Given the description of an element on the screen output the (x, y) to click on. 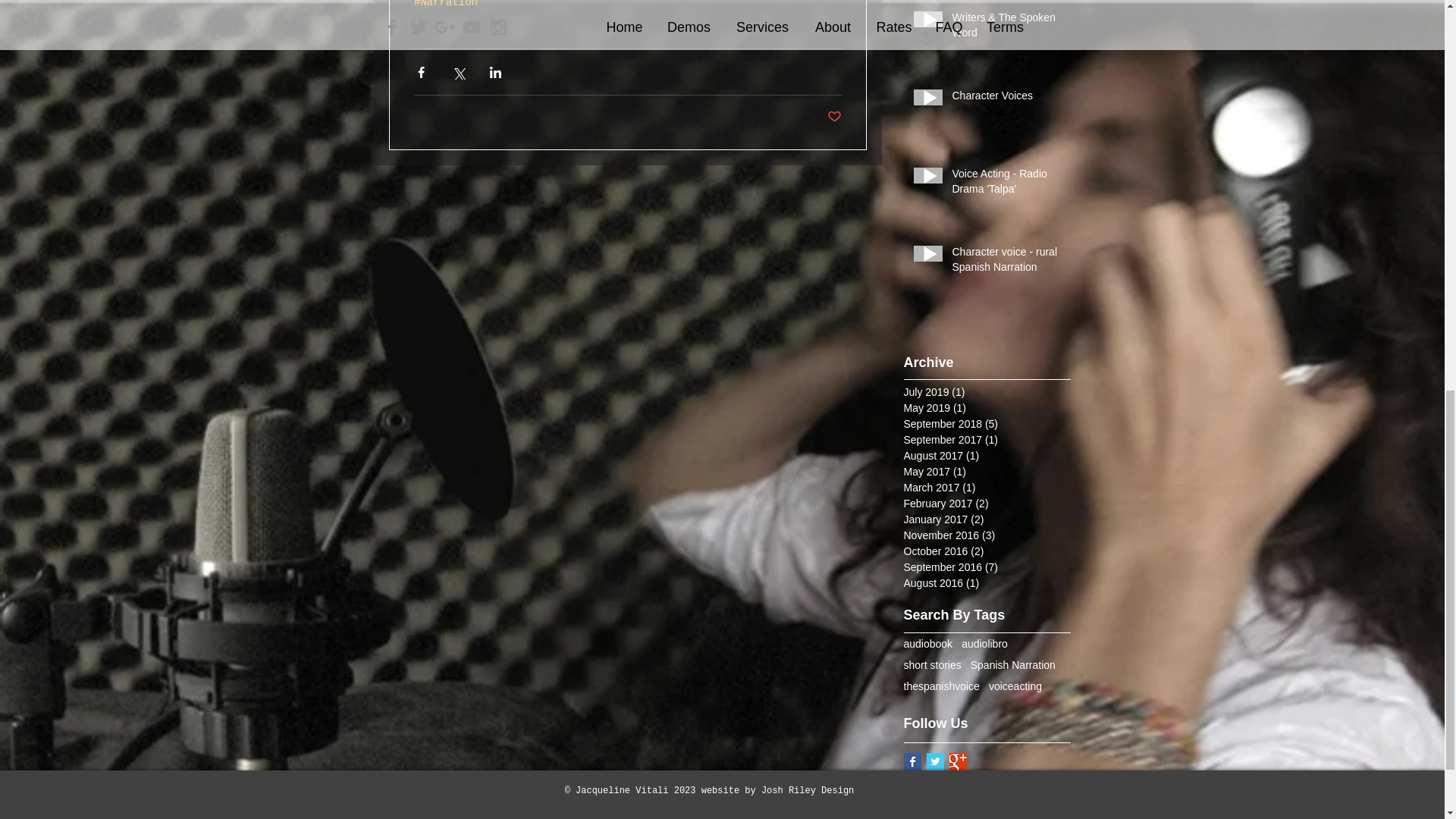
Character voice - rural Spanish Narration (1006, 262)
Character Voices (1006, 98)
Voice Acting - Radio Drama 'Talpa' (1006, 184)
Post not marked as liked (834, 116)
